Given the description of an element on the screen output the (x, y) to click on. 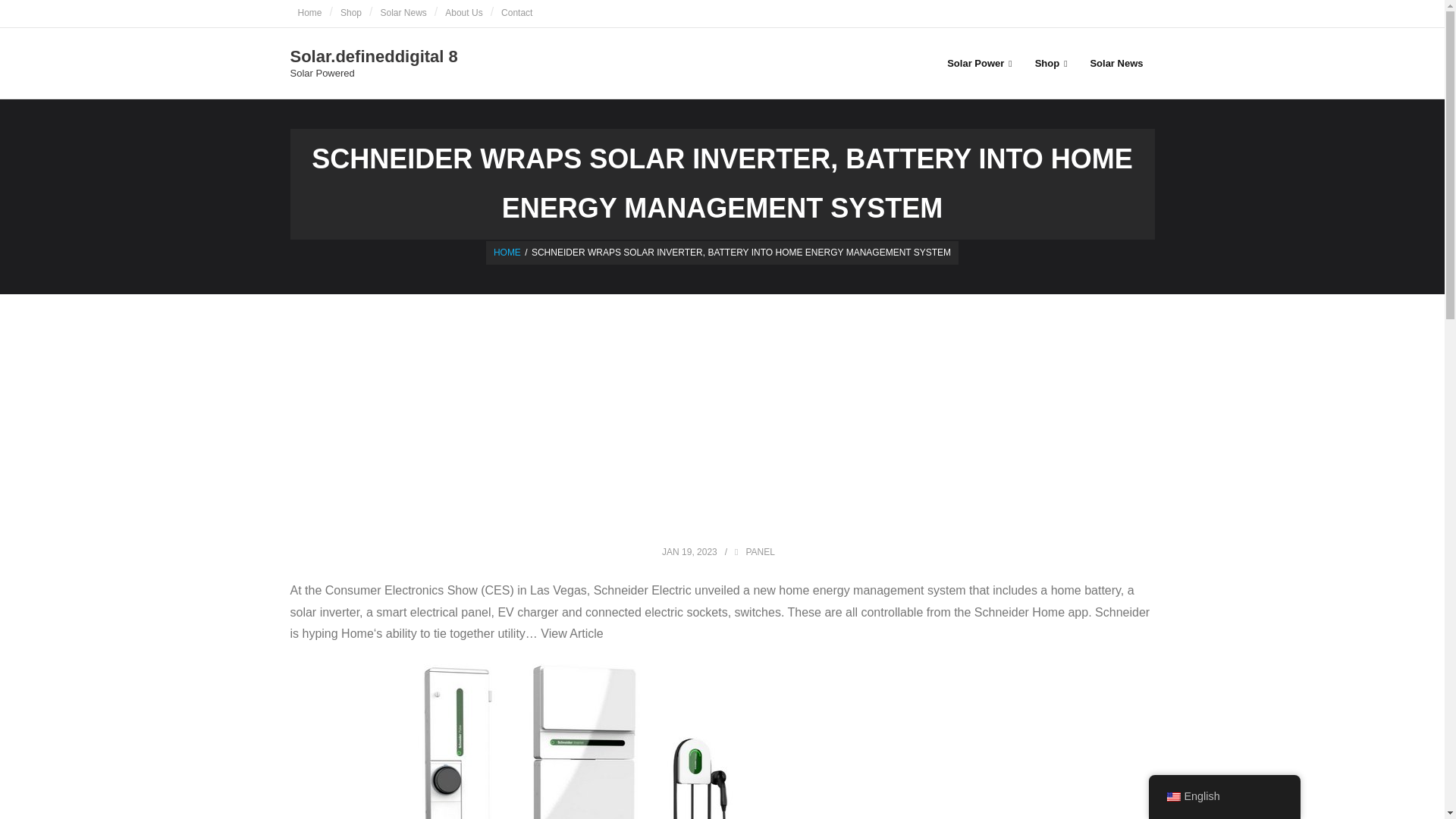
English (1172, 796)
Solar.defineddigital 8 (373, 56)
Shop (351, 13)
Contact (516, 13)
Solar News (402, 13)
Solar News (1116, 62)
JAN 19, 2023 (689, 552)
HOME (507, 252)
Solar Power (979, 62)
PANEL (759, 552)
Solar Powered (373, 72)
Home (309, 13)
About Us (463, 13)
